Given the description of an element on the screen output the (x, y) to click on. 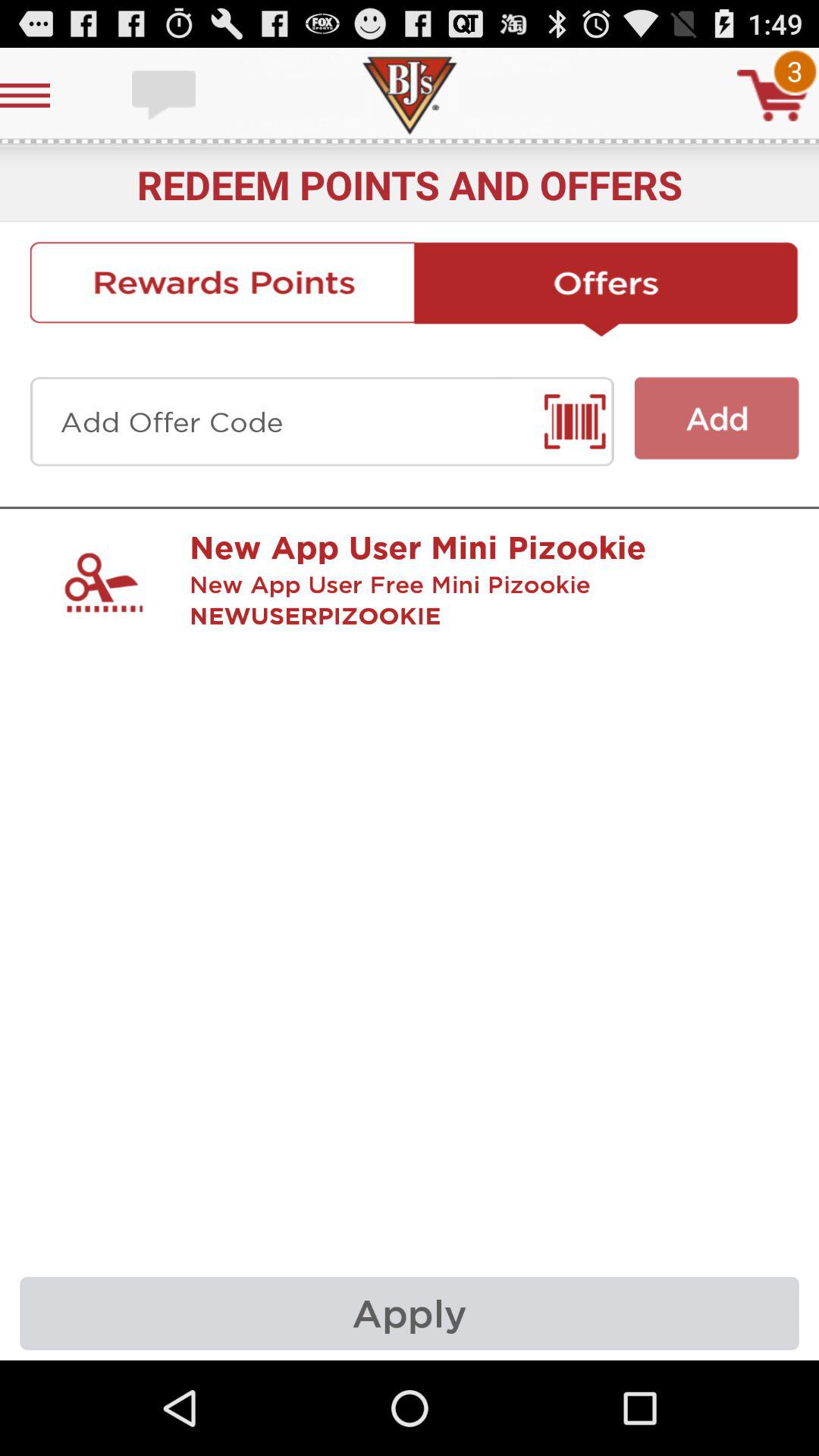
offers (606, 289)
